Given the description of an element on the screen output the (x, y) to click on. 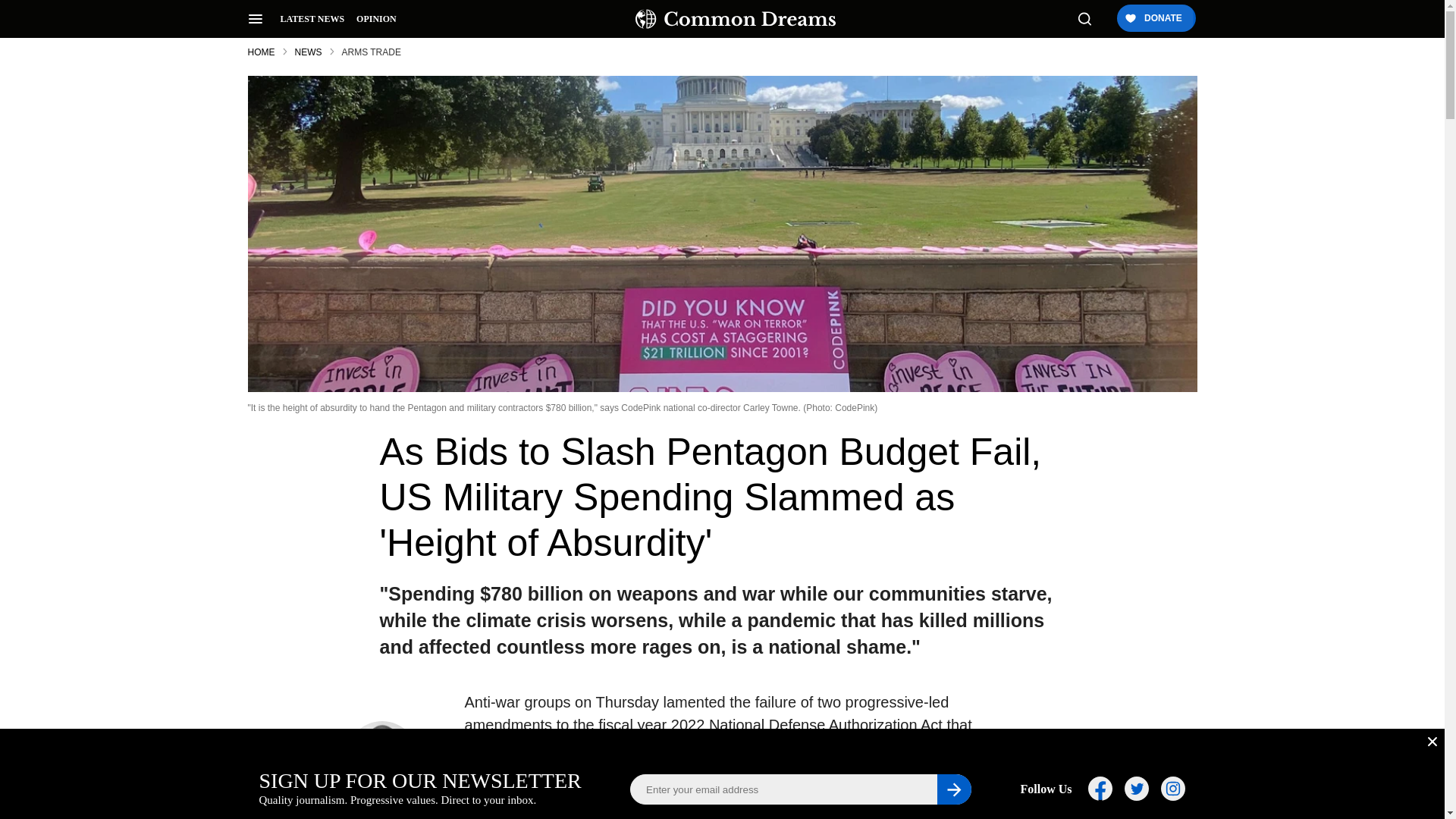
Common Dreams (734, 17)
Donate Button (1154, 19)
LATEST NEWS (313, 18)
OPINION (376, 18)
